Given the description of an element on the screen output the (x, y) to click on. 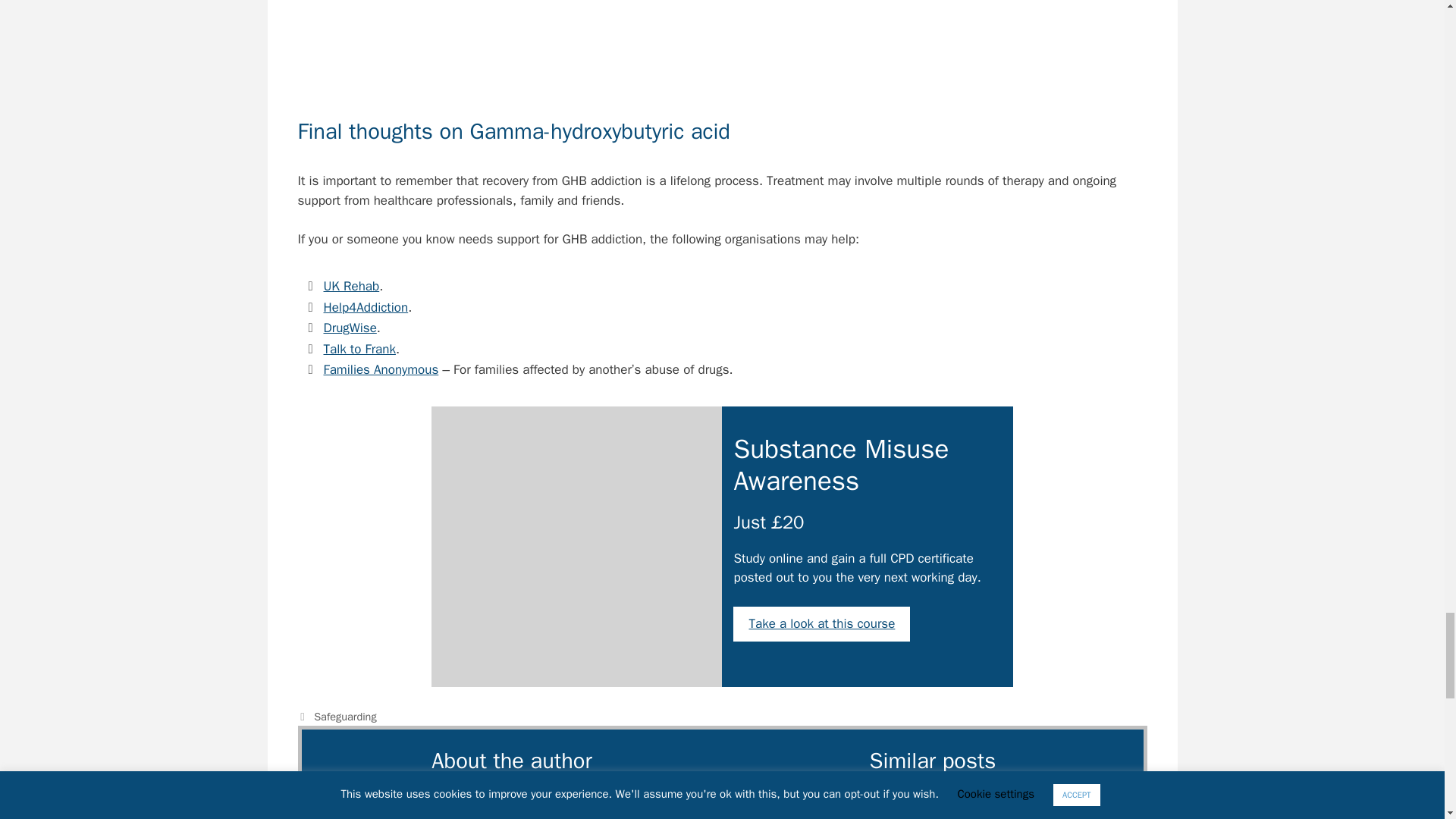
Substance Misuse Awareness (576, 546)
Counselling for drug addiction. (722, 46)
